Given the description of an element on the screen output the (x, y) to click on. 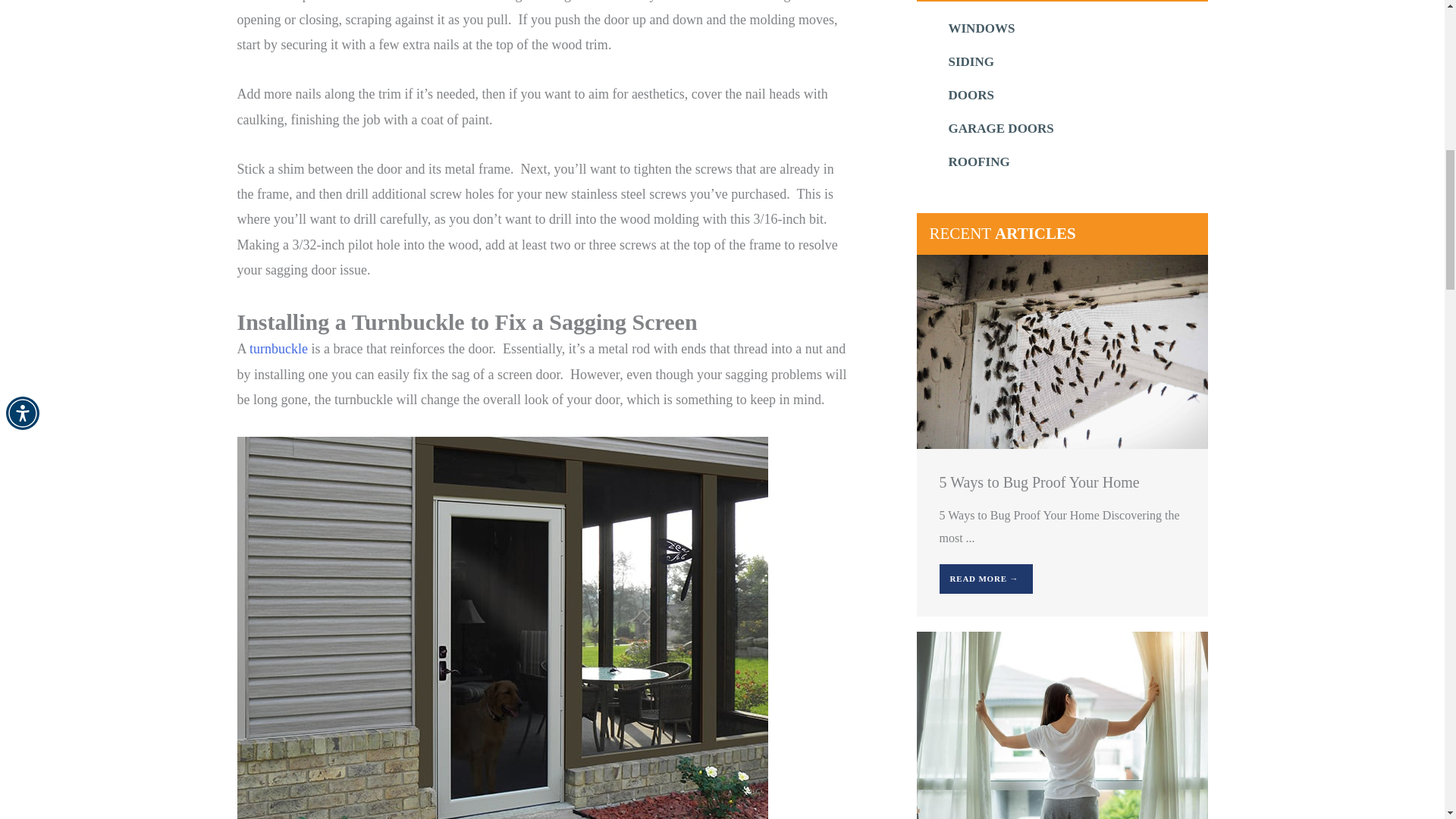
5 Ways to Bug Proof Your Home (1061, 350)
Pocket Window Replacement vs Full-Frame Window Replacement (1061, 727)
